Given the description of an element on the screen output the (x, y) to click on. 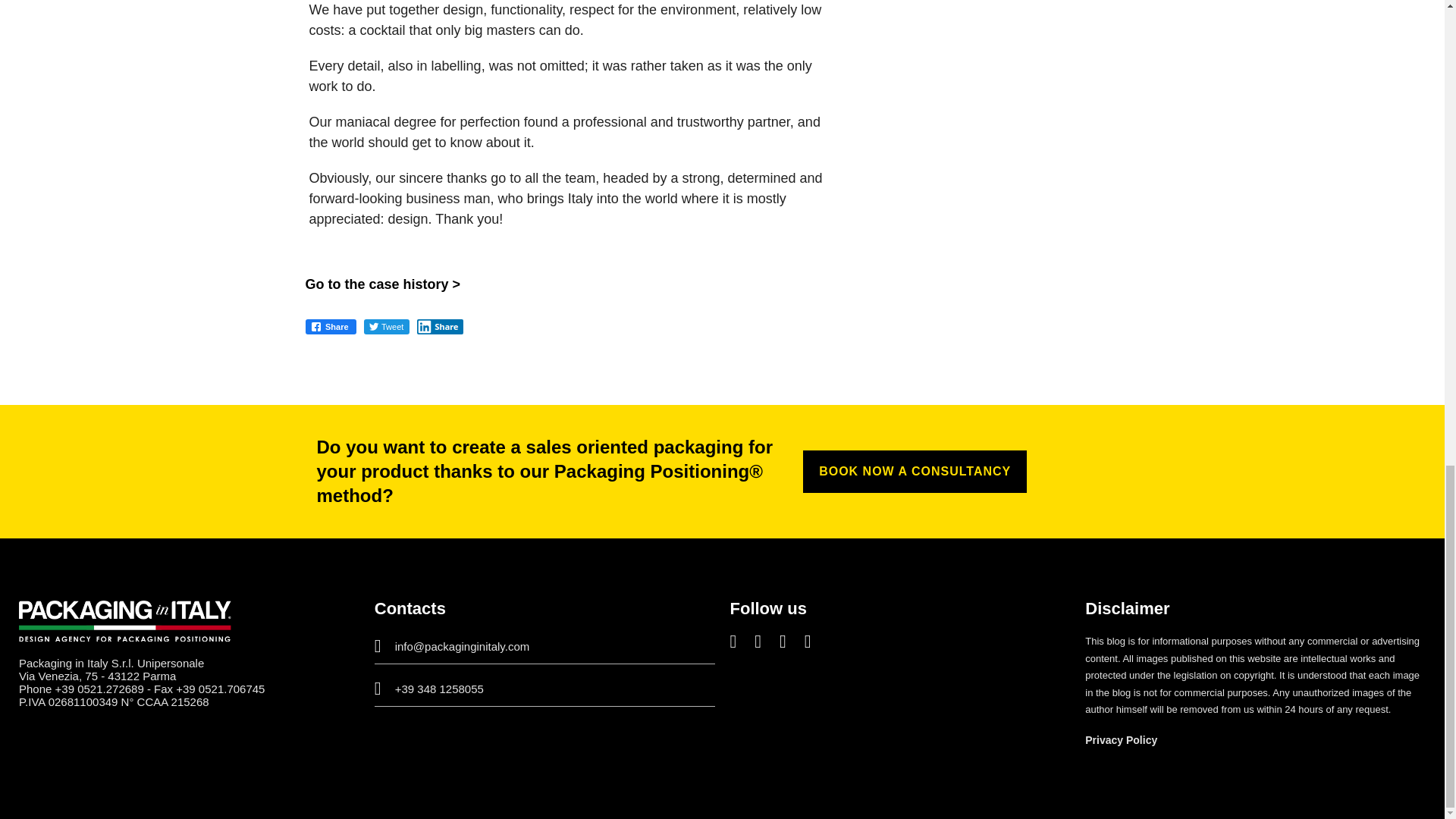
Share on Twitter (386, 329)
